Given the description of an element on the screen output the (x, y) to click on. 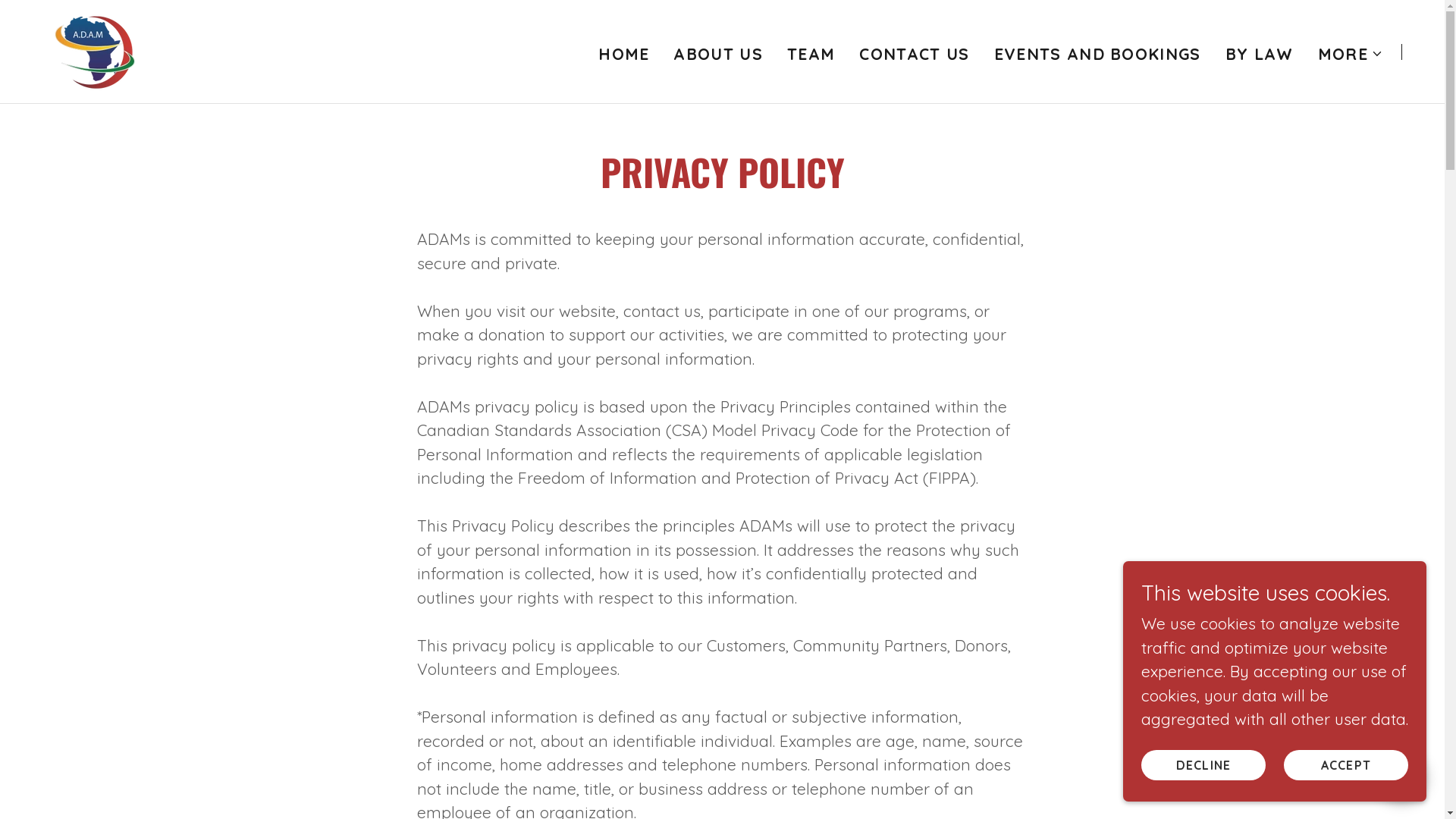
ABOUT US Element type: text (717, 52)
TEAM Element type: text (810, 52)
African Diaspora Association of the Maritimes Element type: hover (95, 49)
DECLINE Element type: text (1203, 764)
CONTACT US Element type: text (913, 52)
ACCEPT Element type: text (1345, 764)
HOME Element type: text (623, 52)
MORE Element type: text (1350, 52)
EVENTS AND BOOKINGS Element type: text (1097, 52)
BY LAW Element type: text (1259, 52)
